Given the description of an element on the screen output the (x, y) to click on. 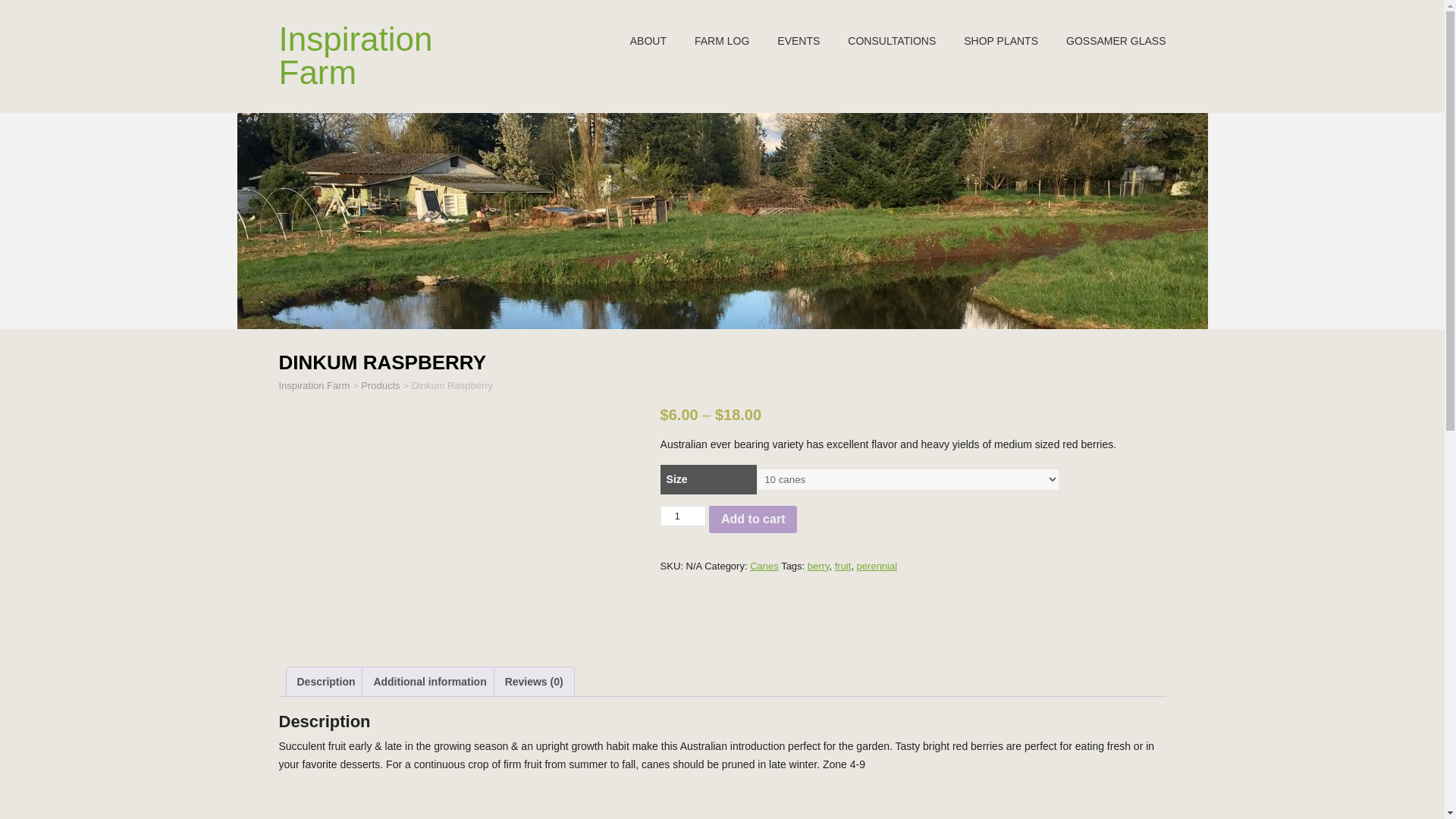
fruit (842, 565)
new (1115, 40)
Products (379, 385)
berry (818, 565)
Inspiration Farm (314, 385)
1 (683, 516)
Inspiration Farm (355, 55)
Go to Products. (379, 385)
Canes (763, 565)
Additional information (429, 681)
